Given the description of an element on the screen output the (x, y) to click on. 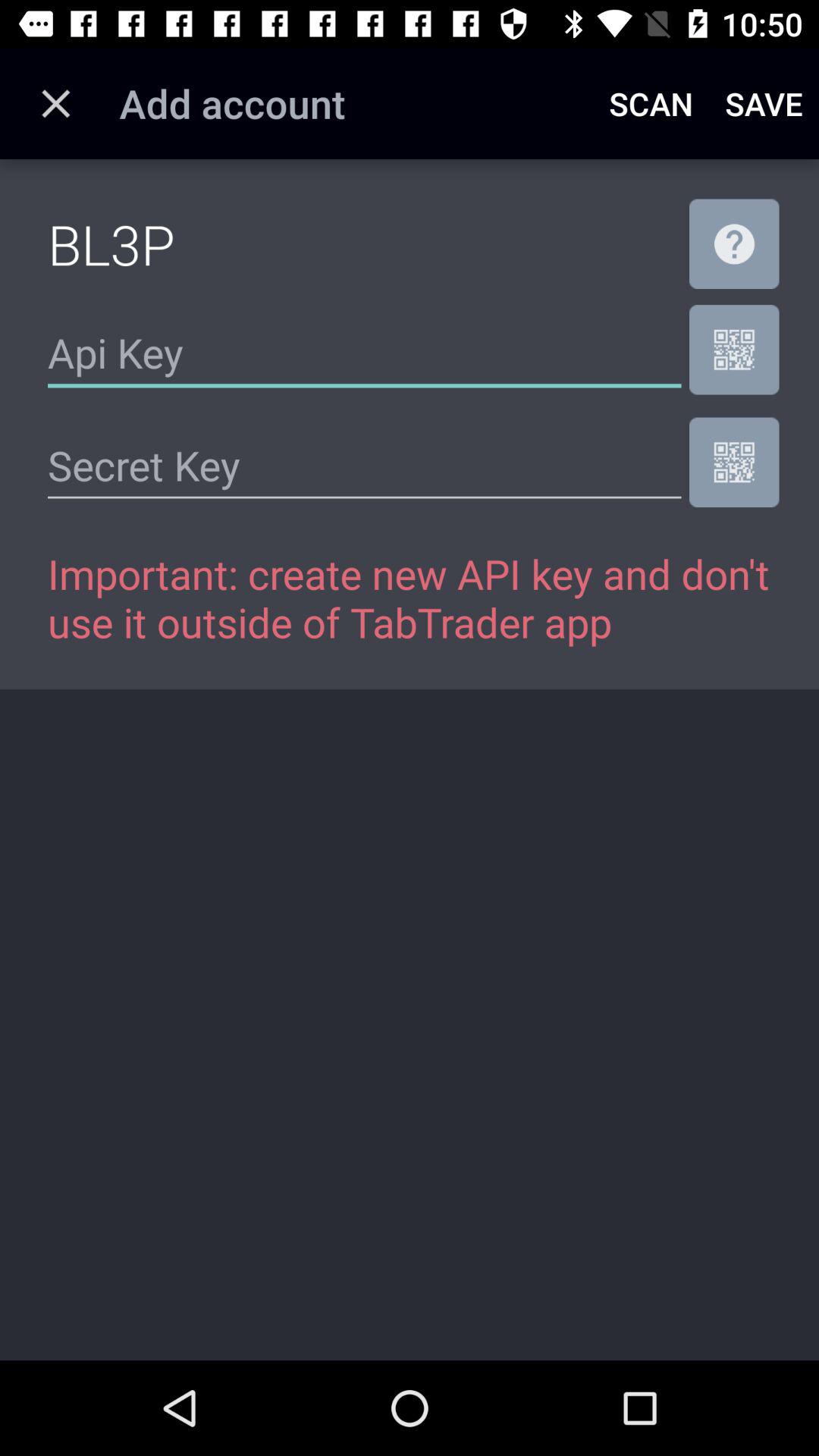
choose the item to the right of the scan icon (764, 103)
